Given the description of an element on the screen output the (x, y) to click on. 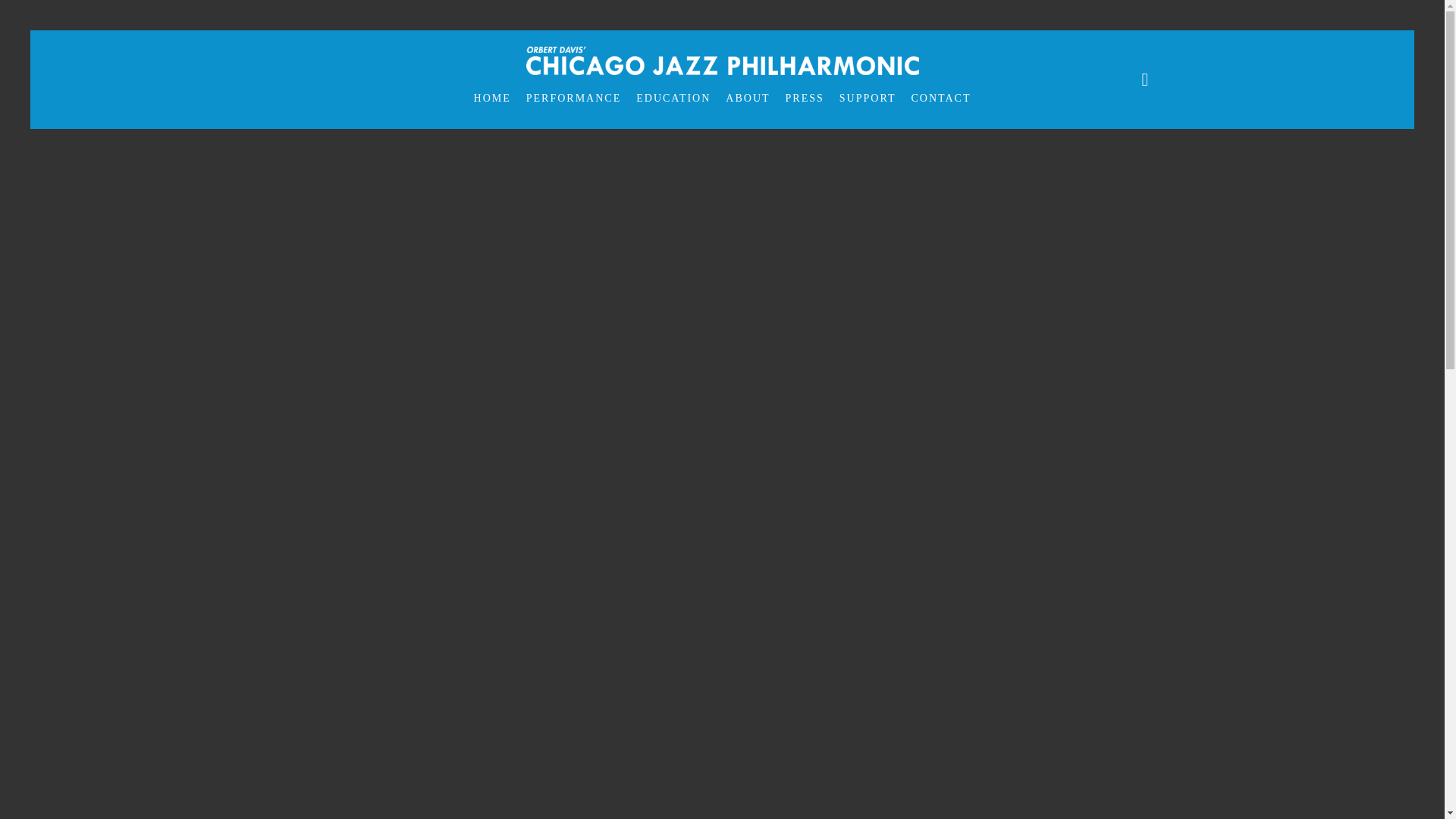
SUPPORT (867, 98)
PERFORMANCE (573, 98)
EDUCATION (672, 98)
ABOUT (747, 98)
PRESS (804, 98)
HOME (491, 98)
CONTACT (940, 98)
